Given the description of an element on the screen output the (x, y) to click on. 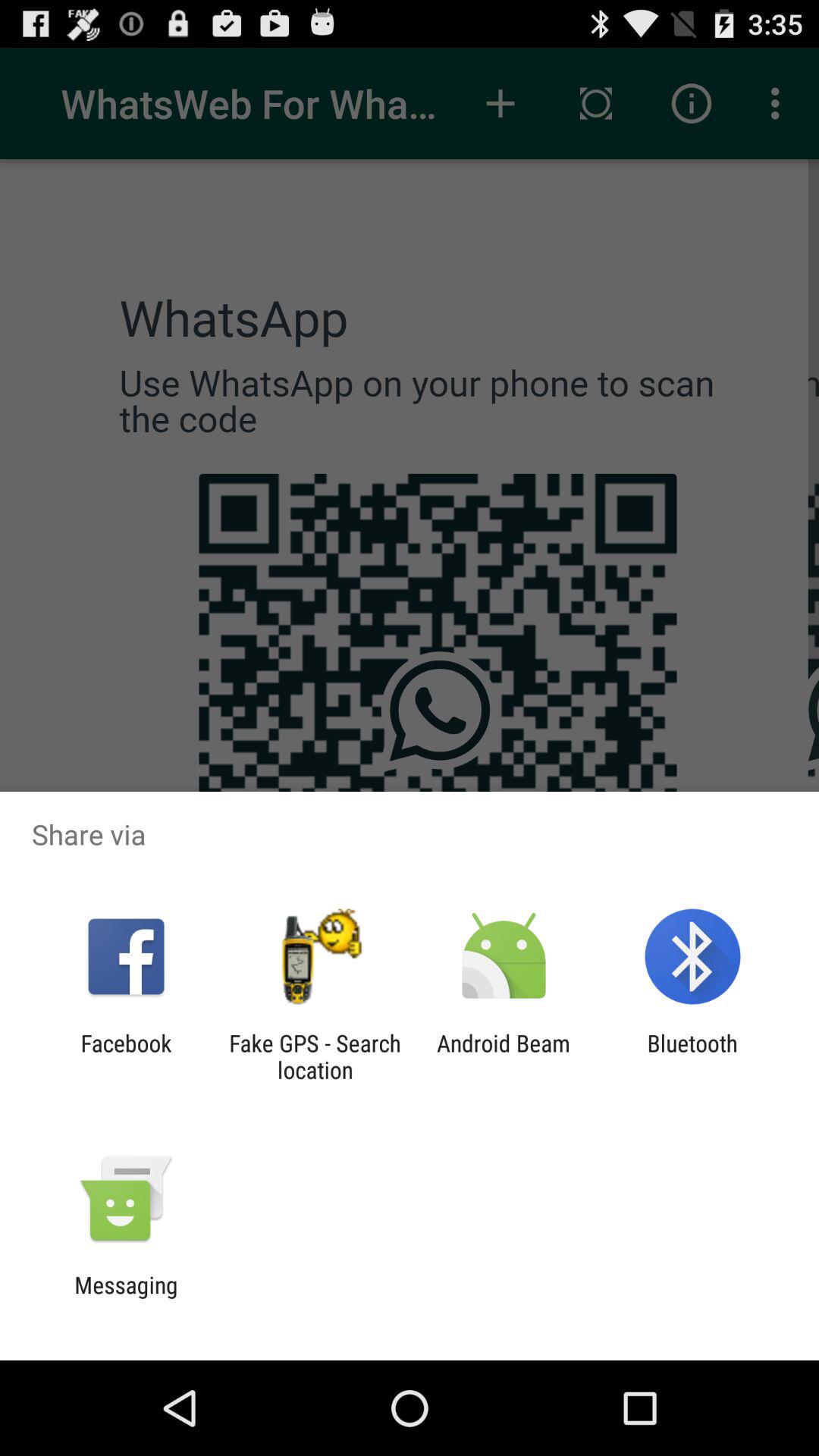
choose the icon at the bottom right corner (692, 1056)
